Given the description of an element on the screen output the (x, y) to click on. 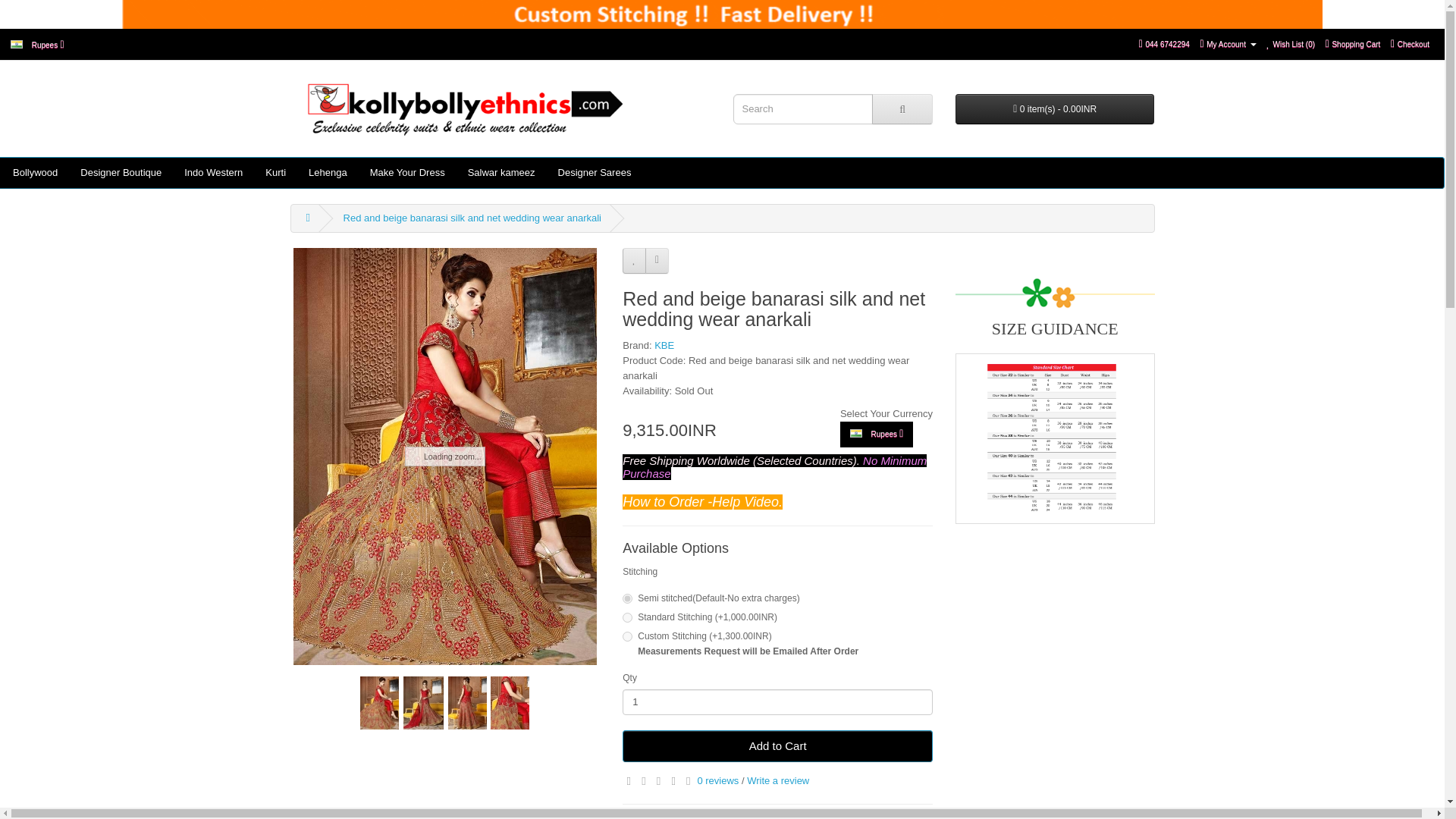
Checkout (1409, 43)
  Rupees (37, 44)
Bollywood (34, 173)
Secure Shopping (1054, 437)
Checkout (1409, 43)
Shopping Cart (1352, 43)
16342 (627, 617)
16343 (627, 598)
My Account (1227, 43)
Shopping Cart (1352, 43)
